Given the description of an element on the screen output the (x, y) to click on. 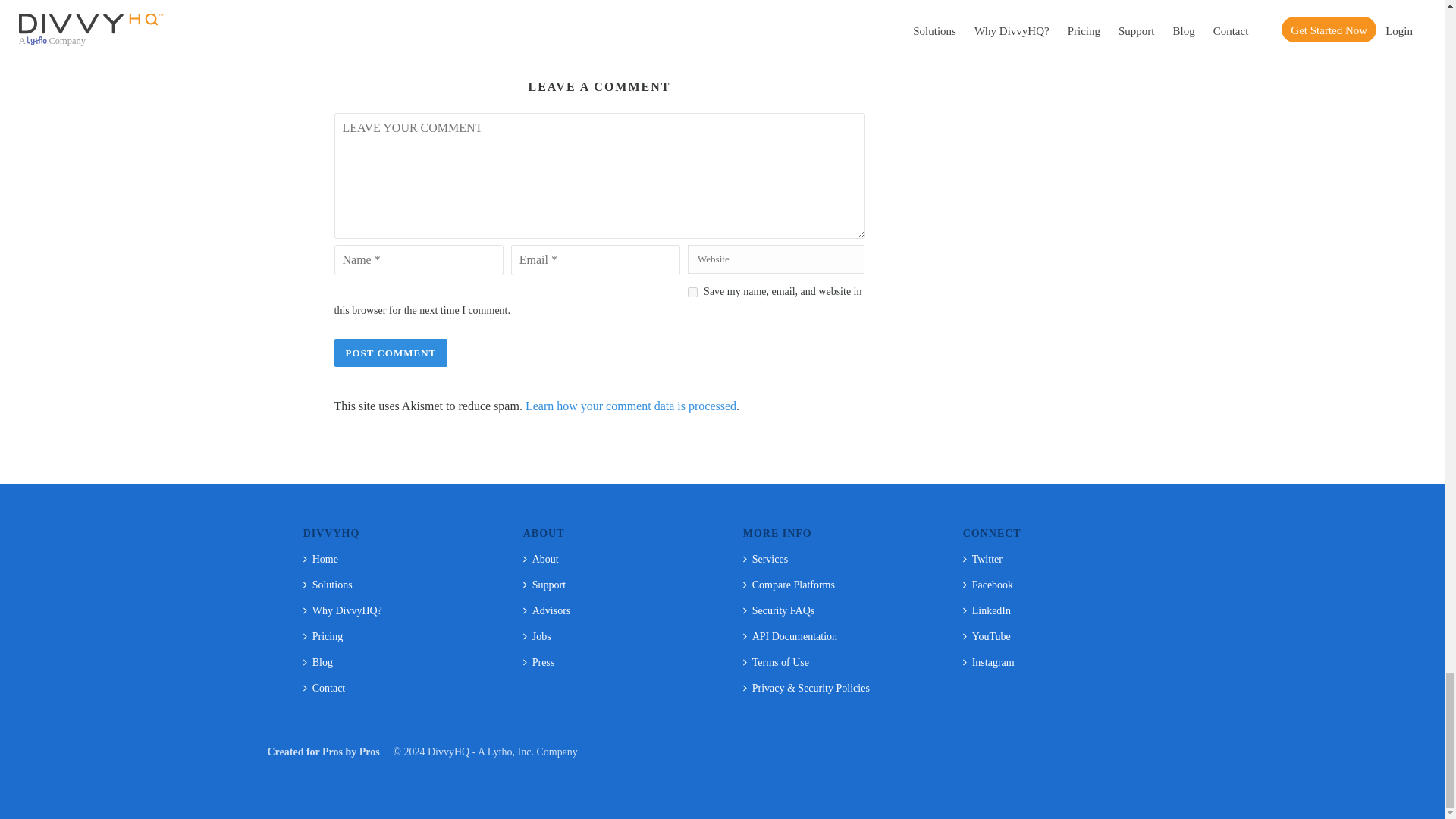
POST COMMENT (389, 352)
Get in touch with me via email (588, 2)
yes (692, 292)
Follow me on Facebook (609, 2)
